Given the description of an element on the screen output the (x, y) to click on. 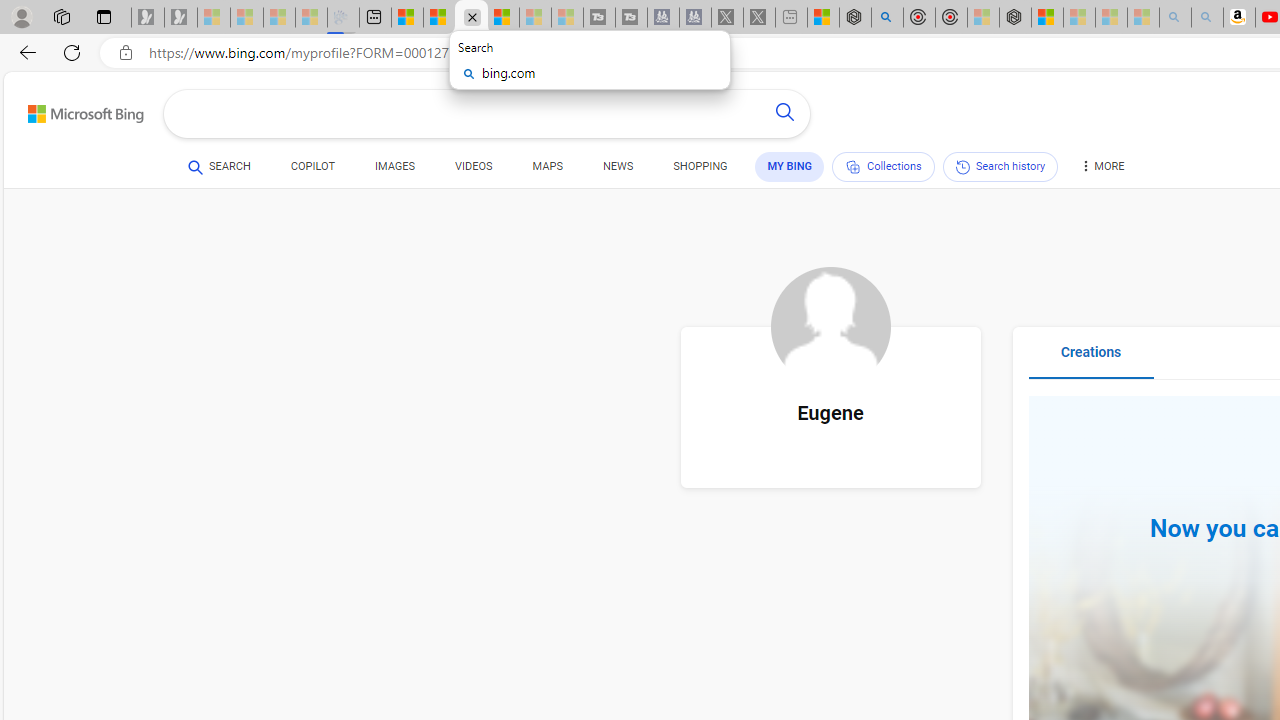
Nordace - Nordace Siena Is Not An Ordinary Backpack (1014, 17)
IMAGES (394, 169)
IMAGES (394, 166)
CollectionsSearch history (944, 169)
MAPS (546, 169)
MORE (1101, 169)
Search history (1000, 166)
